Given the description of an element on the screen output the (x, y) to click on. 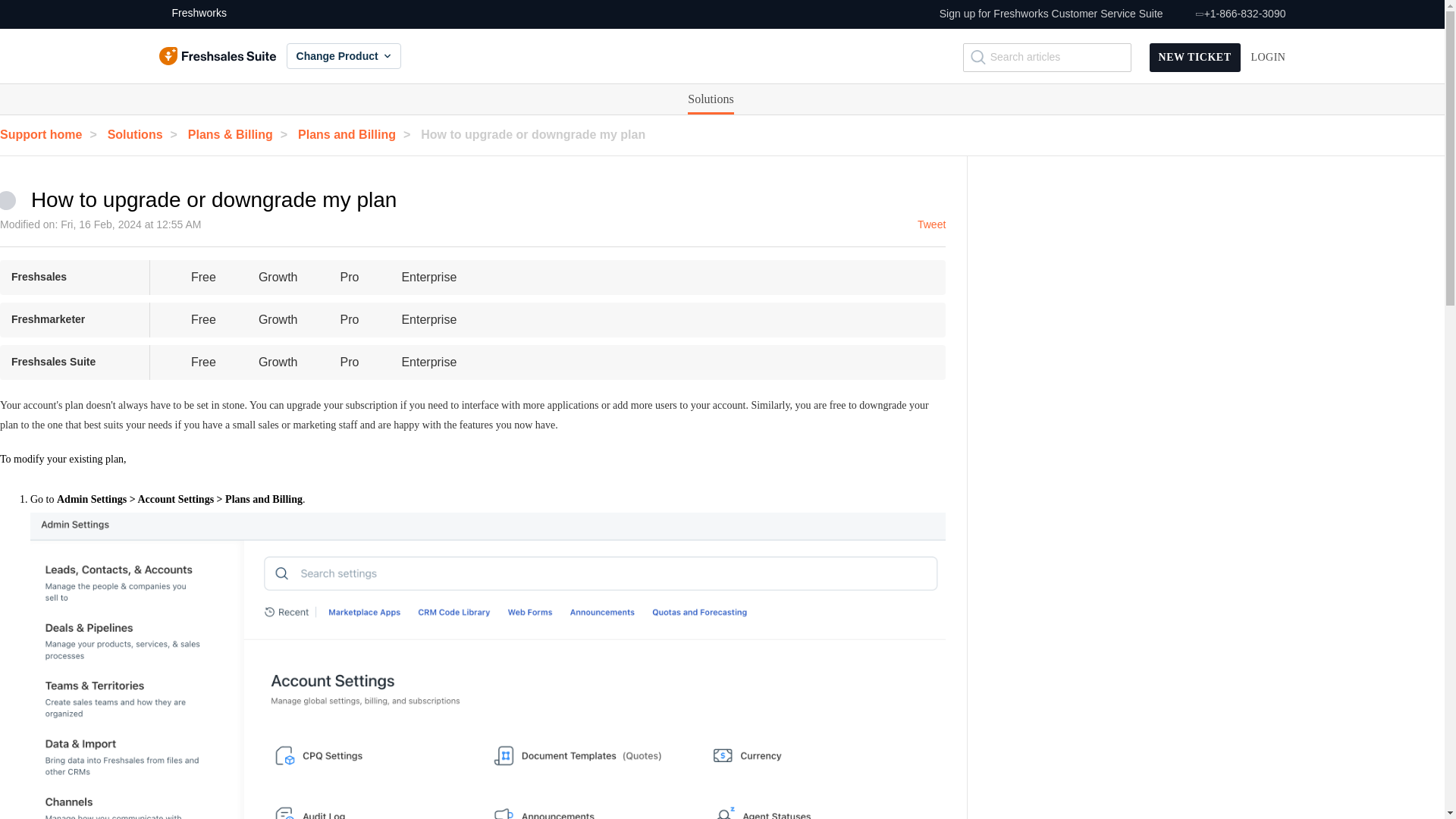
Support home (52, 133)
Solutions (710, 99)
How to upgrade or downgrade my plan (540, 133)
Freshworks (192, 13)
Sign up for Freshworks Customer Service Suite (1051, 13)
NEW TICKET (1195, 57)
Print this Article (411, 196)
Solutions (710, 99)
Solutions (710, 99)
LOGIN (1267, 57)
Plans and Billing (357, 133)
Tweet (930, 224)
Solutions (145, 133)
